Given the description of an element on the screen output the (x, y) to click on. 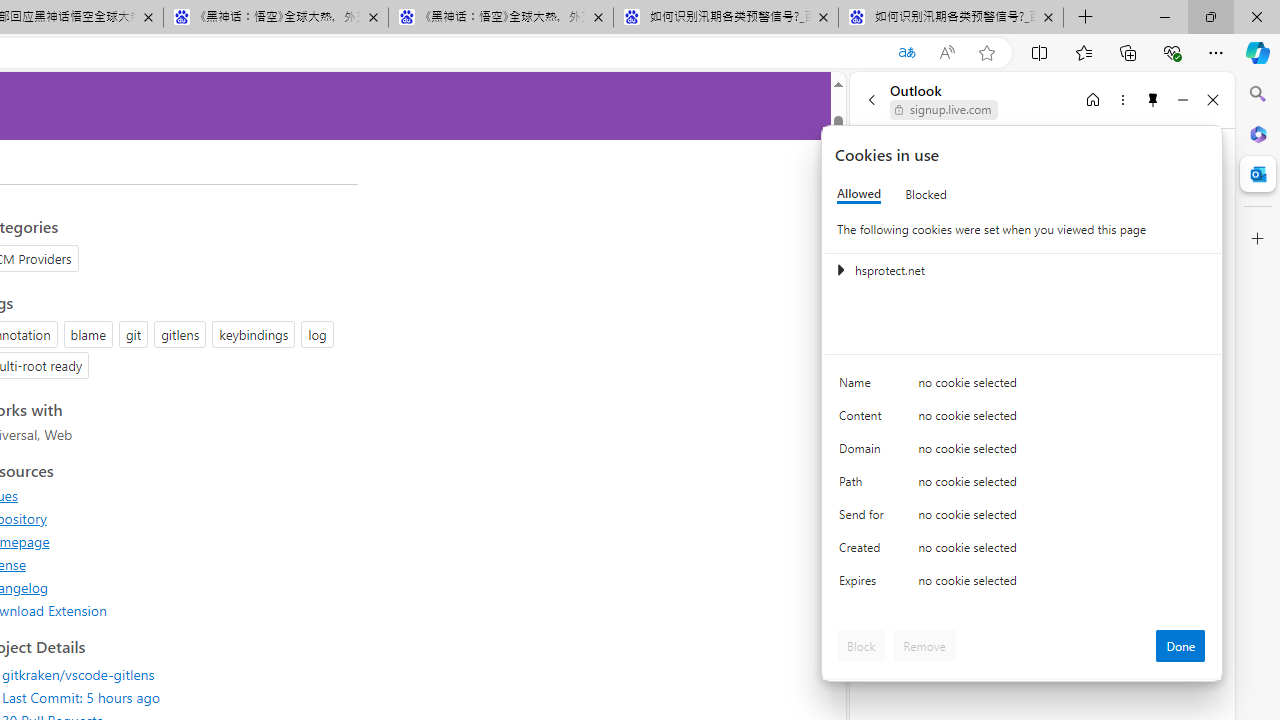
Expires (864, 585)
Block (861, 645)
Name (864, 387)
Created (864, 552)
Send for (864, 518)
Path (864, 485)
Domain (864, 452)
Done (1179, 645)
Allowed (859, 193)
Class: c0153 c0157 (1023, 584)
Content (864, 420)
Blocked (925, 193)
Remove (924, 645)
Class: c0153 c0157 c0154 (1023, 386)
no cookie selected (1062, 585)
